Given the description of an element on the screen output the (x, y) to click on. 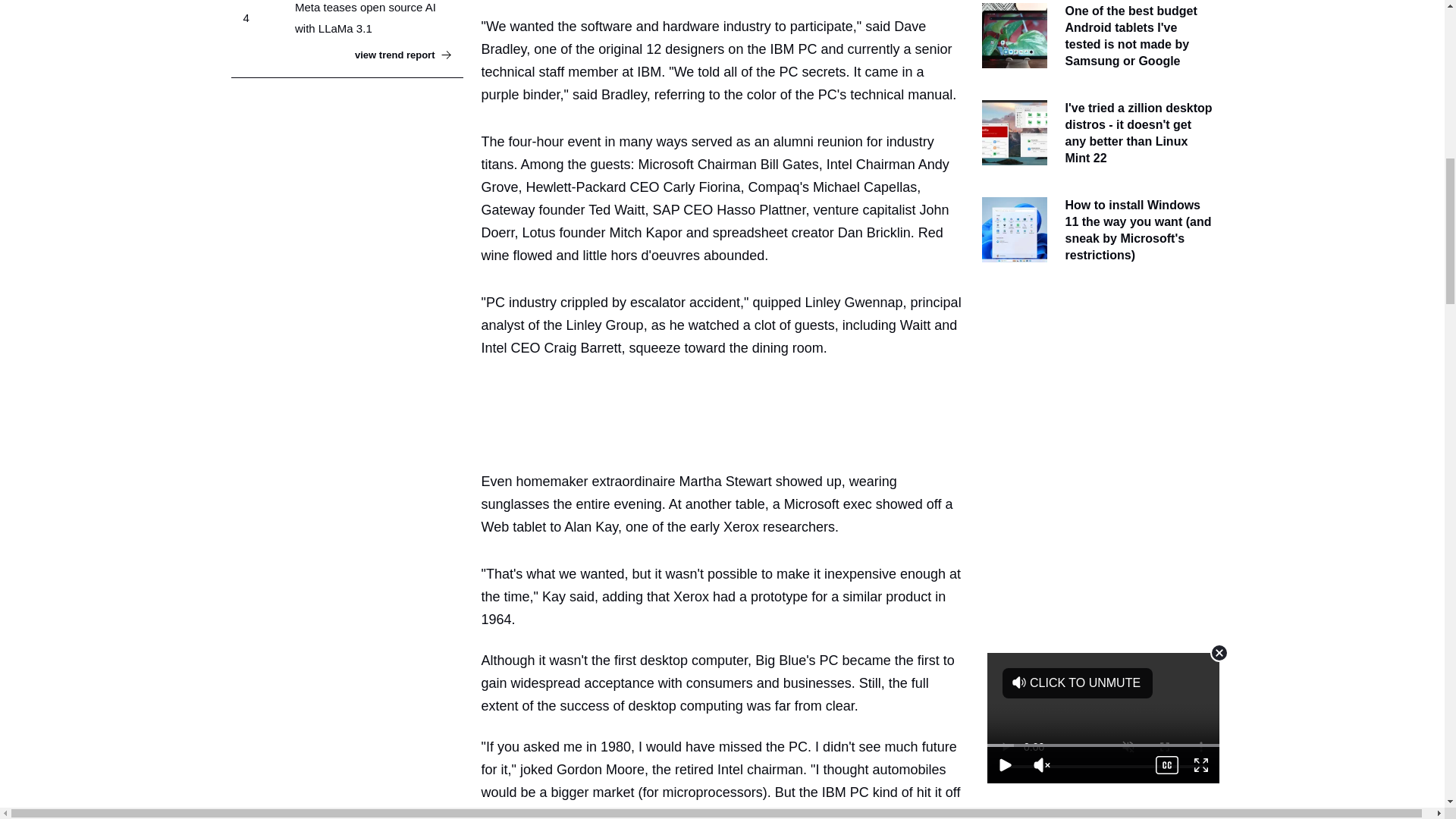
3rd party ad content (727, 411)
